Given the description of an element on the screen output the (x, y) to click on. 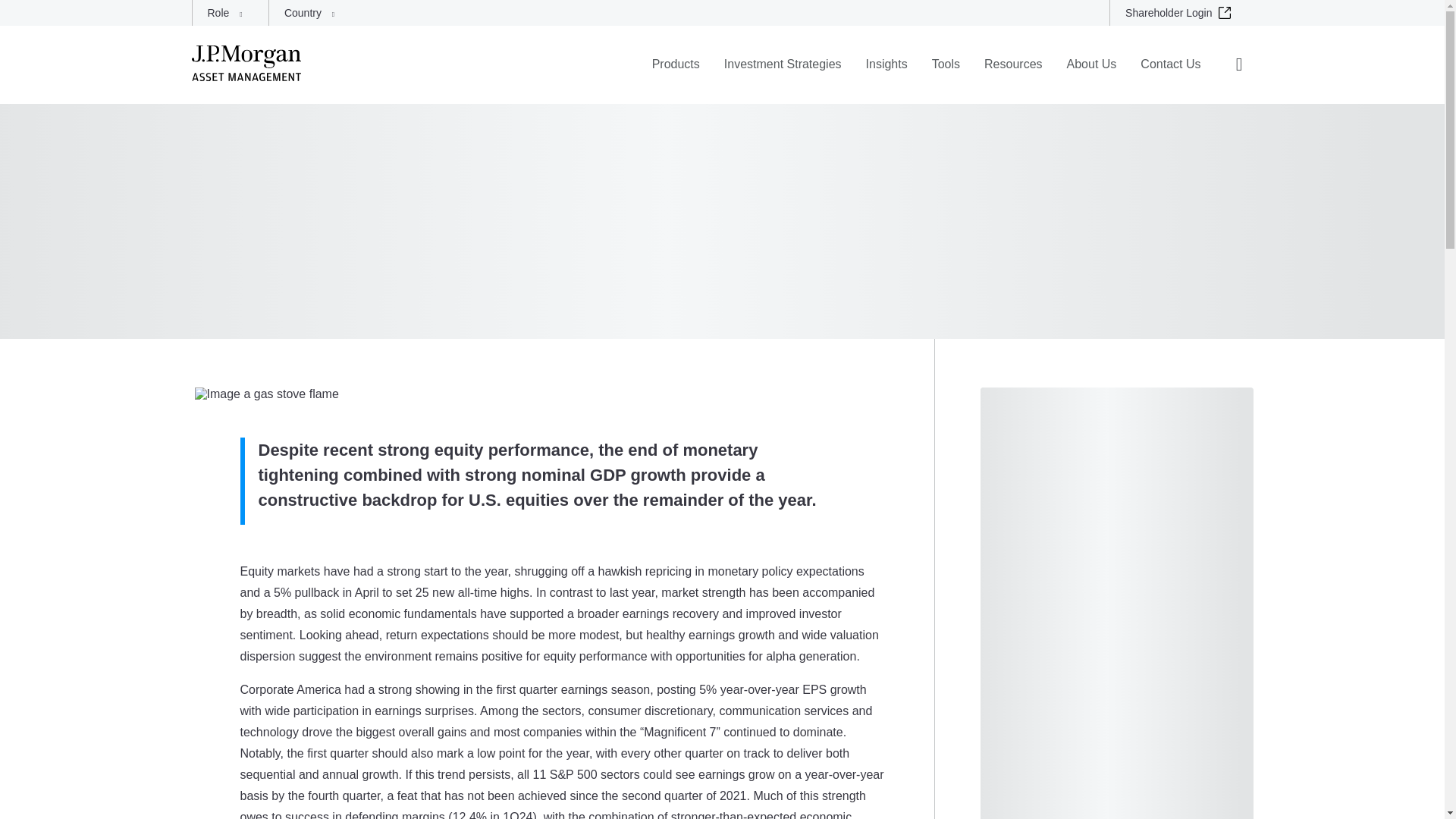
Products (676, 74)
Investment Strategies (782, 74)
Insights (887, 74)
Shareholder Login (1180, 12)
